Given the description of an element on the screen output the (x, y) to click on. 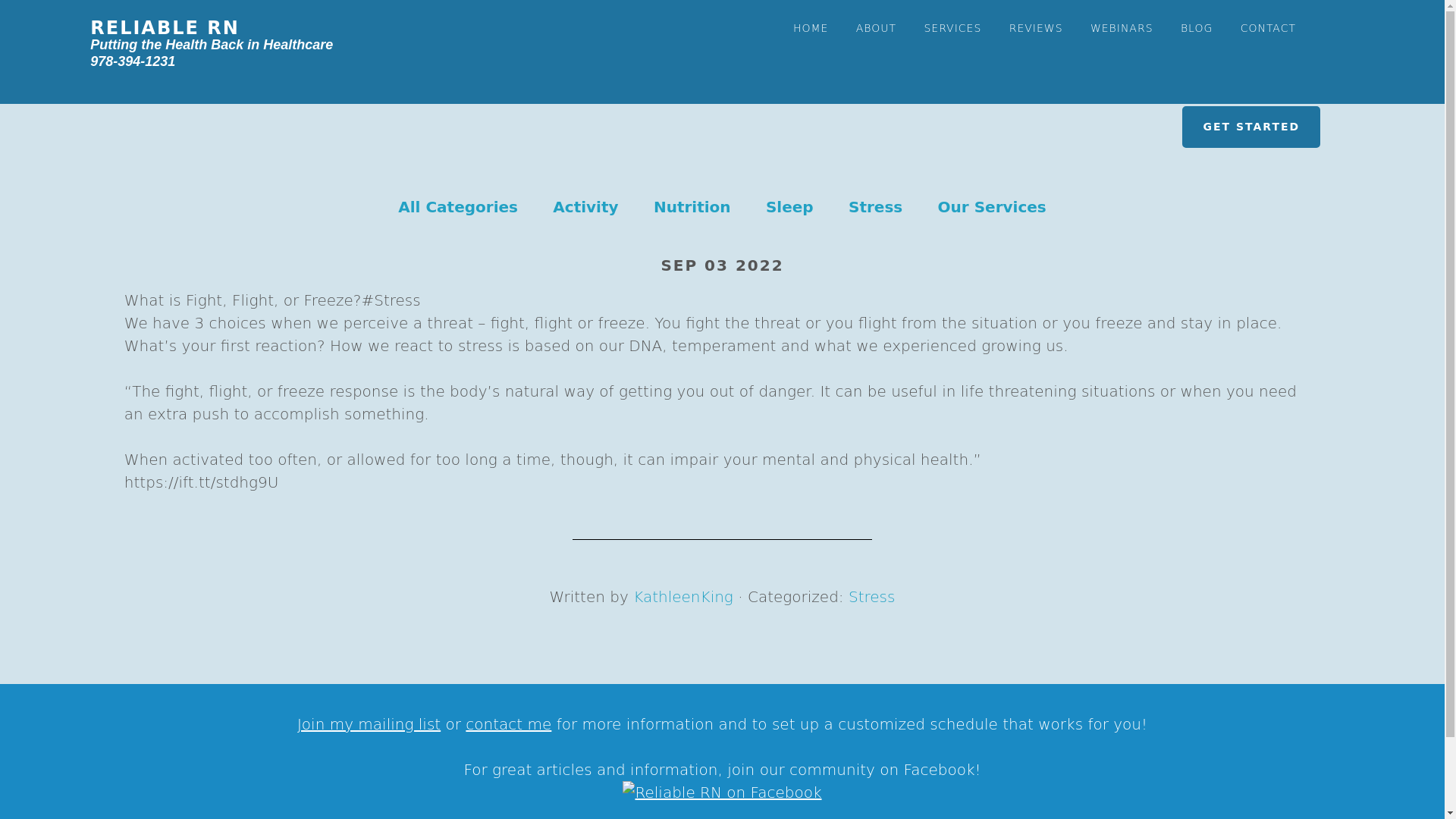
978-394-1231 (132, 61)
WEBINARS (1121, 19)
ABOUT (875, 19)
Activity (585, 207)
Homepage (211, 44)
GET STARTED (1251, 127)
All Categories (457, 207)
Join my mailing list (369, 723)
Stress (875, 207)
HOME (810, 19)
